Given the description of an element on the screen output the (x, y) to click on. 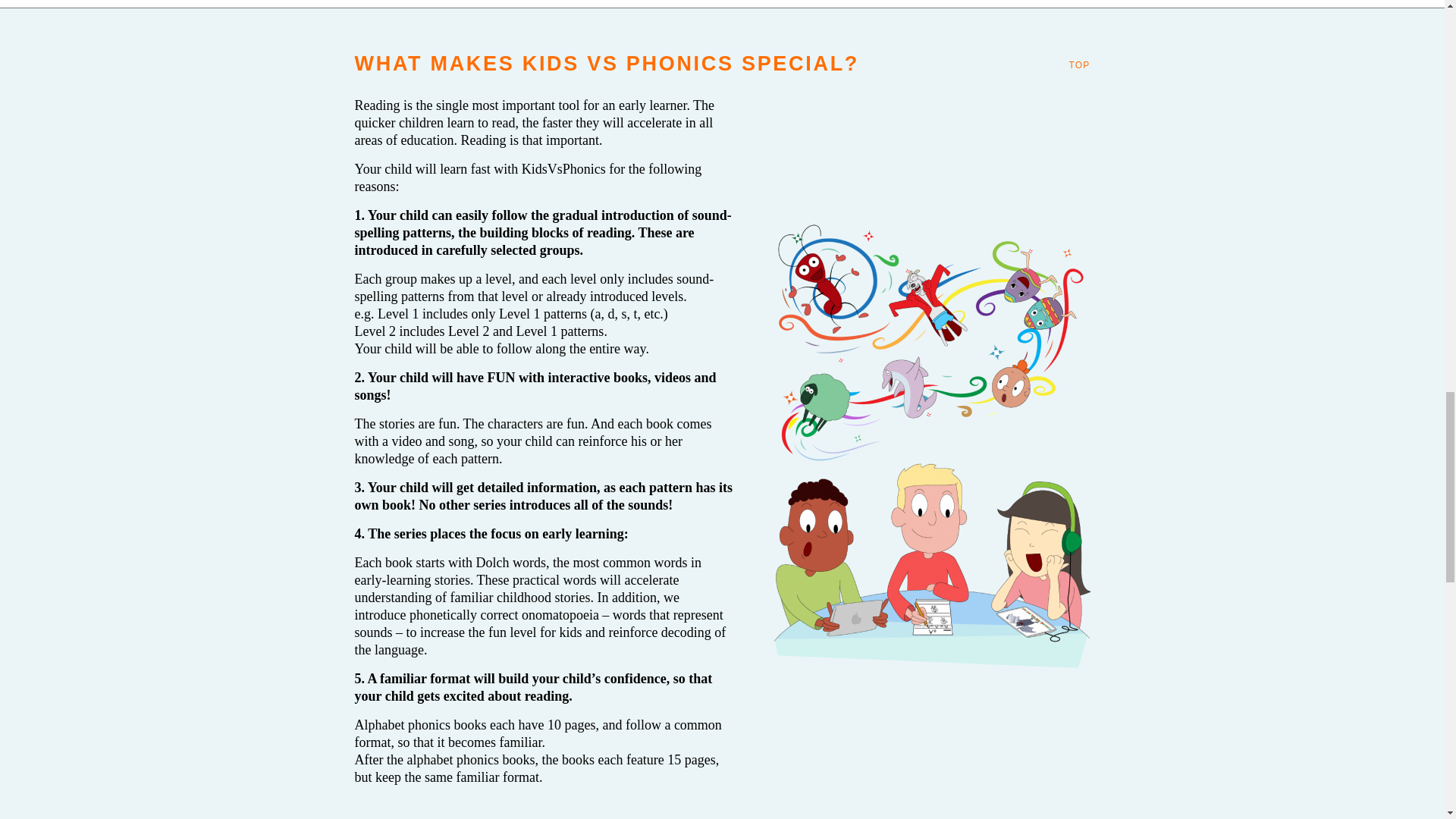
TOP (1078, 64)
